Given the description of an element on the screen output the (x, y) to click on. 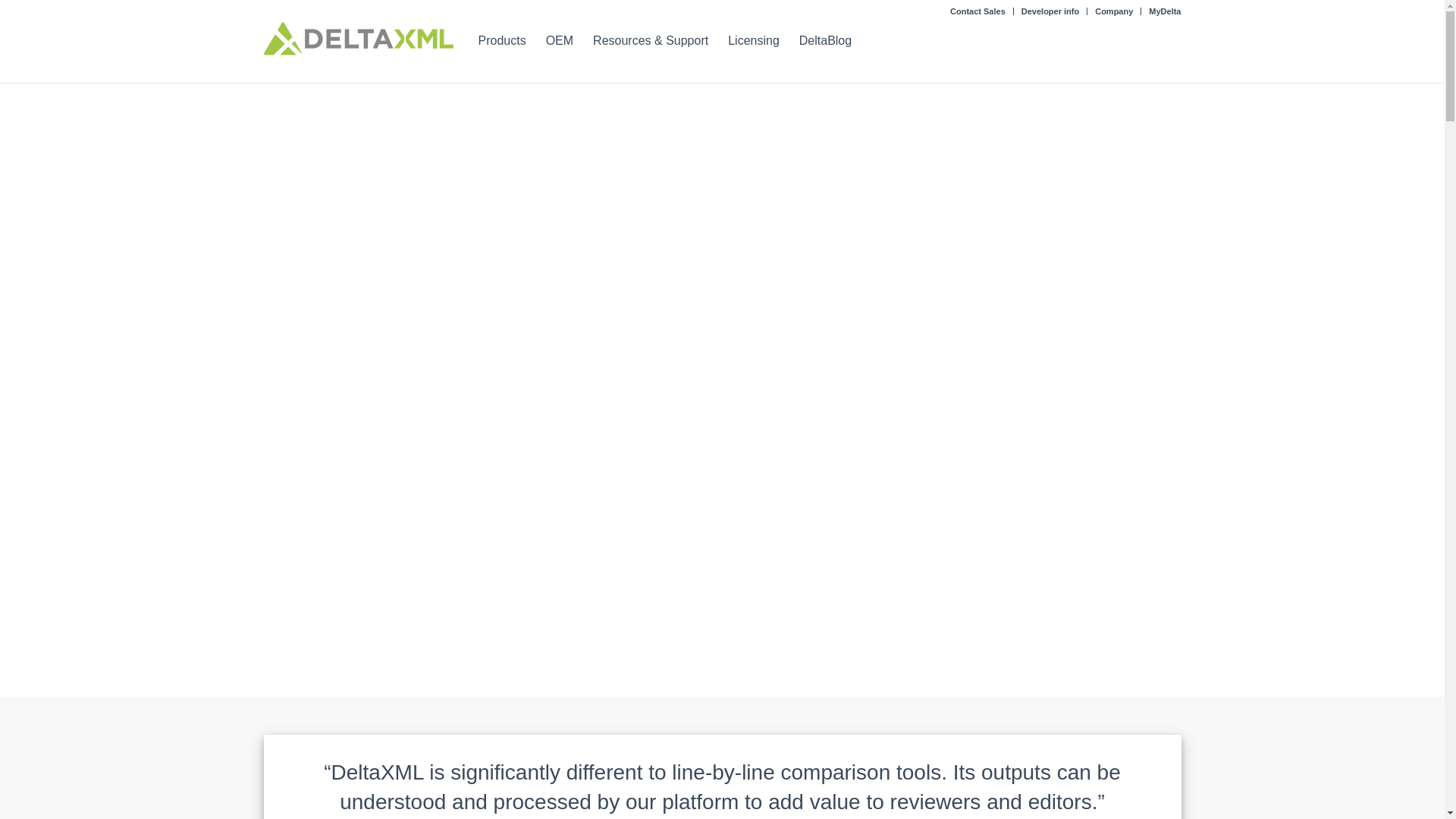
Company (1113, 11)
Licensing (753, 52)
MyDelta (1164, 11)
Contact Sales (978, 11)
deltaxml-header-logo (357, 38)
Developer info (1050, 11)
DeltaBlog (825, 52)
deltaxml-header-logo (357, 52)
Products (501, 52)
